Given the description of an element on the screen output the (x, y) to click on. 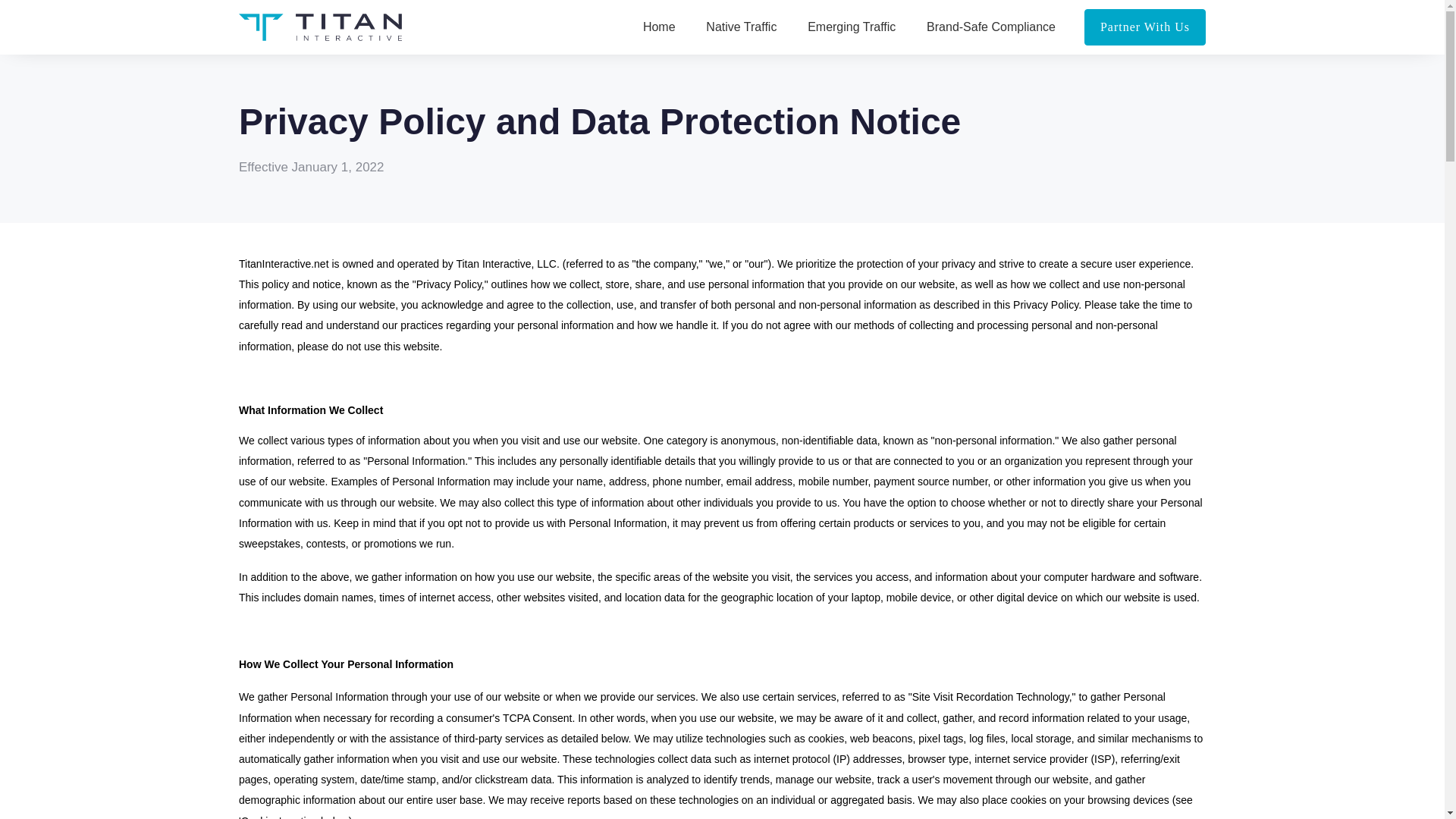
Native Traffic (741, 26)
Brand-Safe Compliance (990, 26)
Home (659, 26)
Emerging Traffic (851, 26)
Titaninteractive. (319, 26)
Partner With Us (1144, 27)
